Given the description of an element on the screen output the (x, y) to click on. 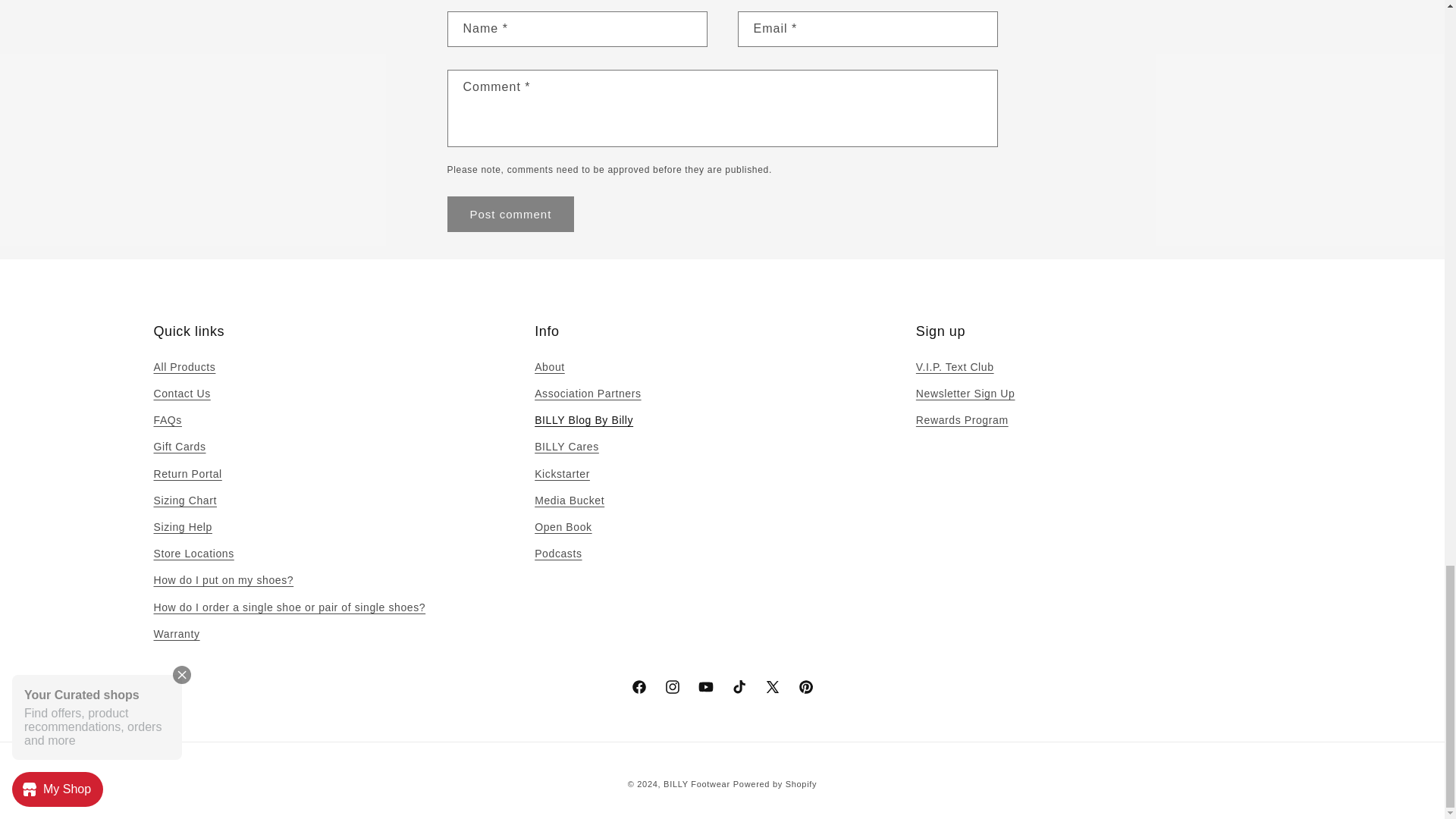
Post comment (510, 213)
